Given the description of an element on the screen output the (x, y) to click on. 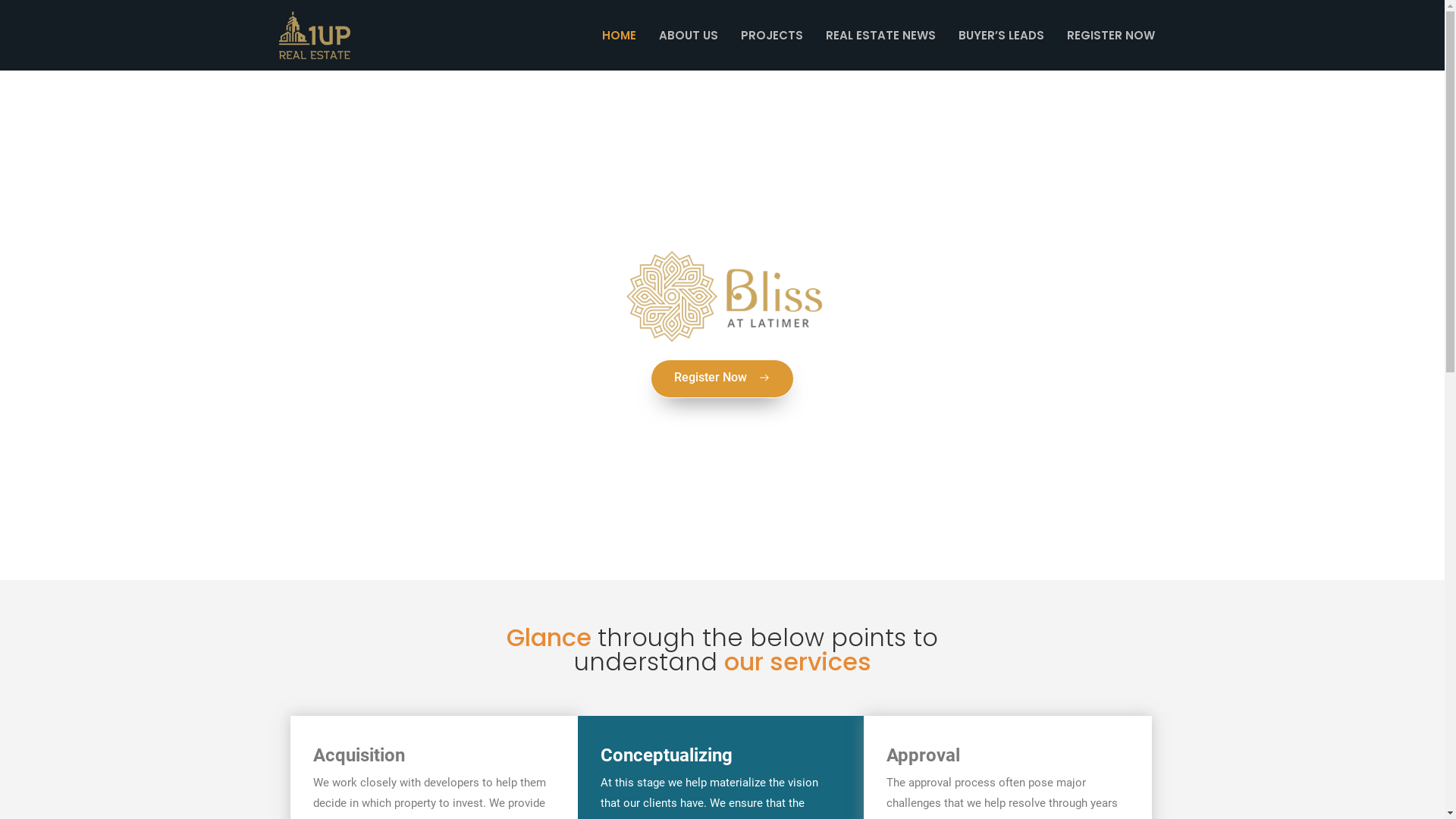
Register Now Element type: text (721, 378)
REAL ESTATE NEWS Element type: text (880, 35)
HOME Element type: text (617, 35)
REGISTER NOW Element type: text (1110, 35)
PROJECTS Element type: text (771, 35)
ABOUT US Element type: text (688, 35)
